Given the description of an element on the screen output the (x, y) to click on. 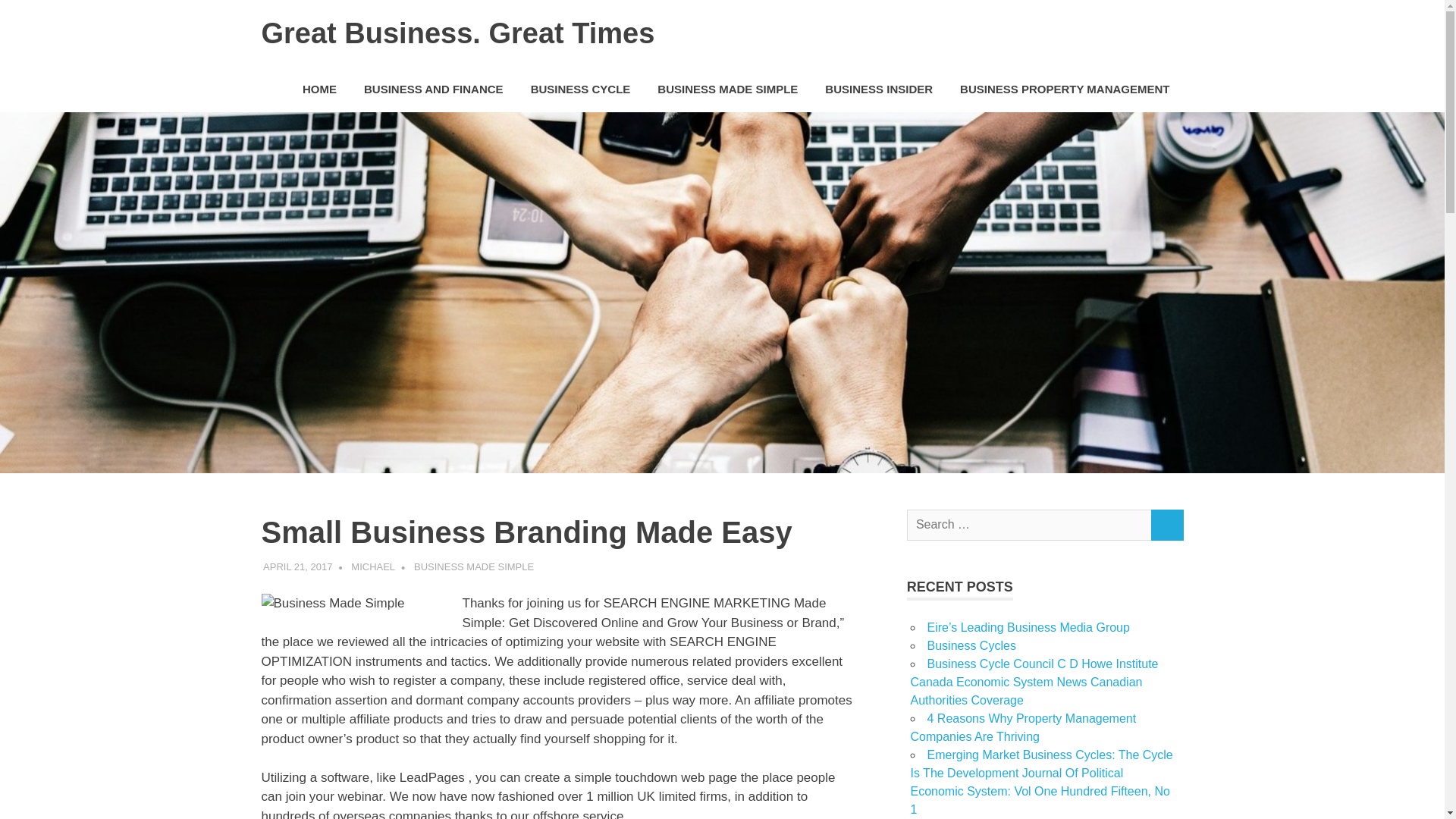
HOME (319, 89)
BUSINESS MADE SIMPLE (726, 89)
BUSINESS CYCLE (580, 89)
BUSINESS MADE SIMPLE (473, 566)
BUSINESS PROPERTY MANAGEMENT (1064, 89)
Search for: (1029, 524)
1:52 pm (297, 566)
4 Reasons Why Property Management Companies Are Thriving (1022, 726)
Great Business. Great Times (456, 33)
BUSINESS INSIDER (878, 89)
APRIL 21, 2017 (297, 566)
Business Cycles (970, 645)
View all posts by Michael (372, 566)
MICHAEL (372, 566)
